Given the description of an element on the screen output the (x, y) to click on. 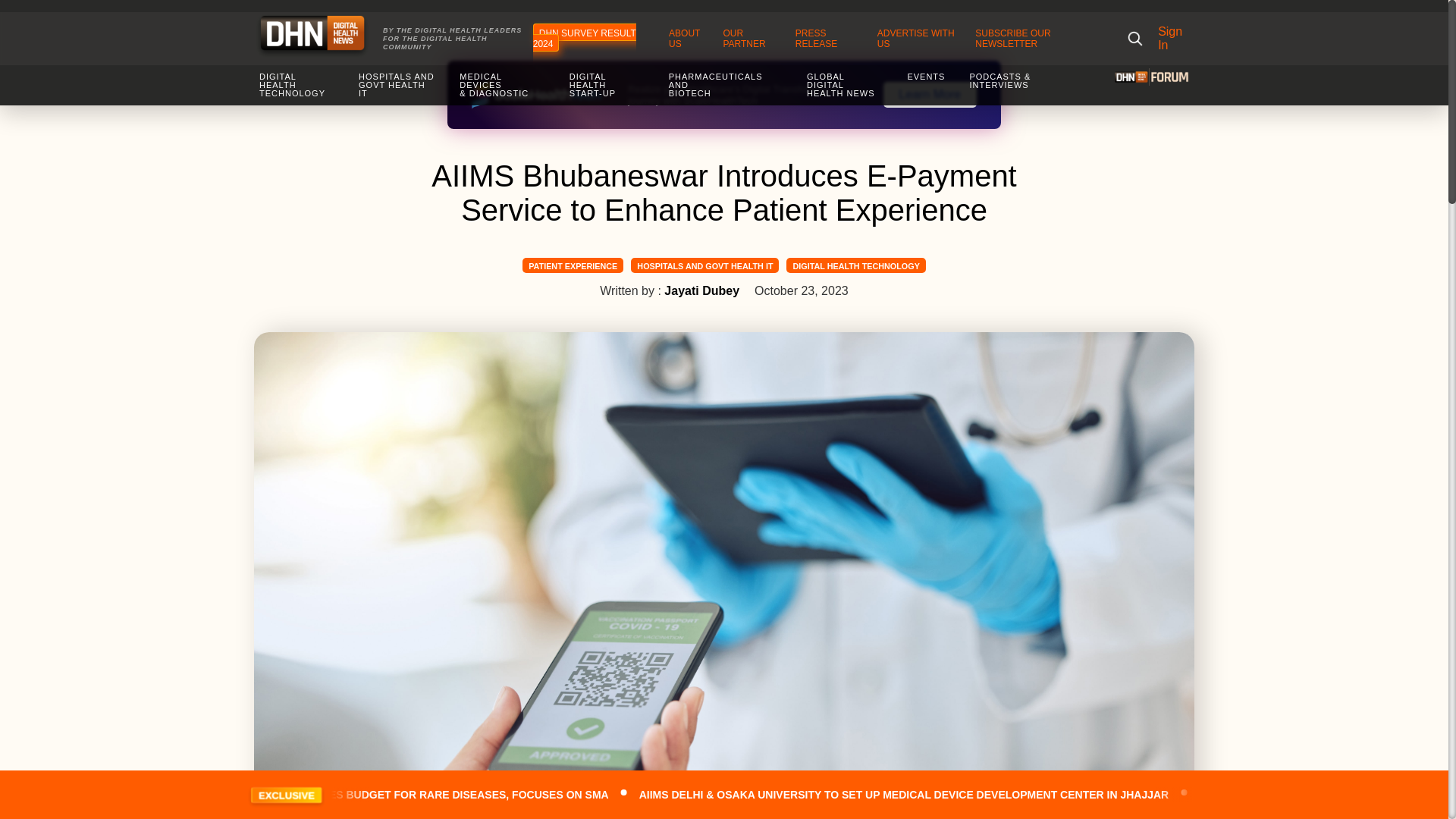
OUR PARTNER (743, 38)
PRESS RELEASE (815, 38)
SUBSCRIBE OUR NEWSLETTER (1012, 38)
ADVERTISE WITH US (916, 38)
DHN SURVEY RESULT 2024 (584, 37)
Sign In (1175, 38)
ABOUT US (684, 38)
